Given the description of an element on the screen output the (x, y) to click on. 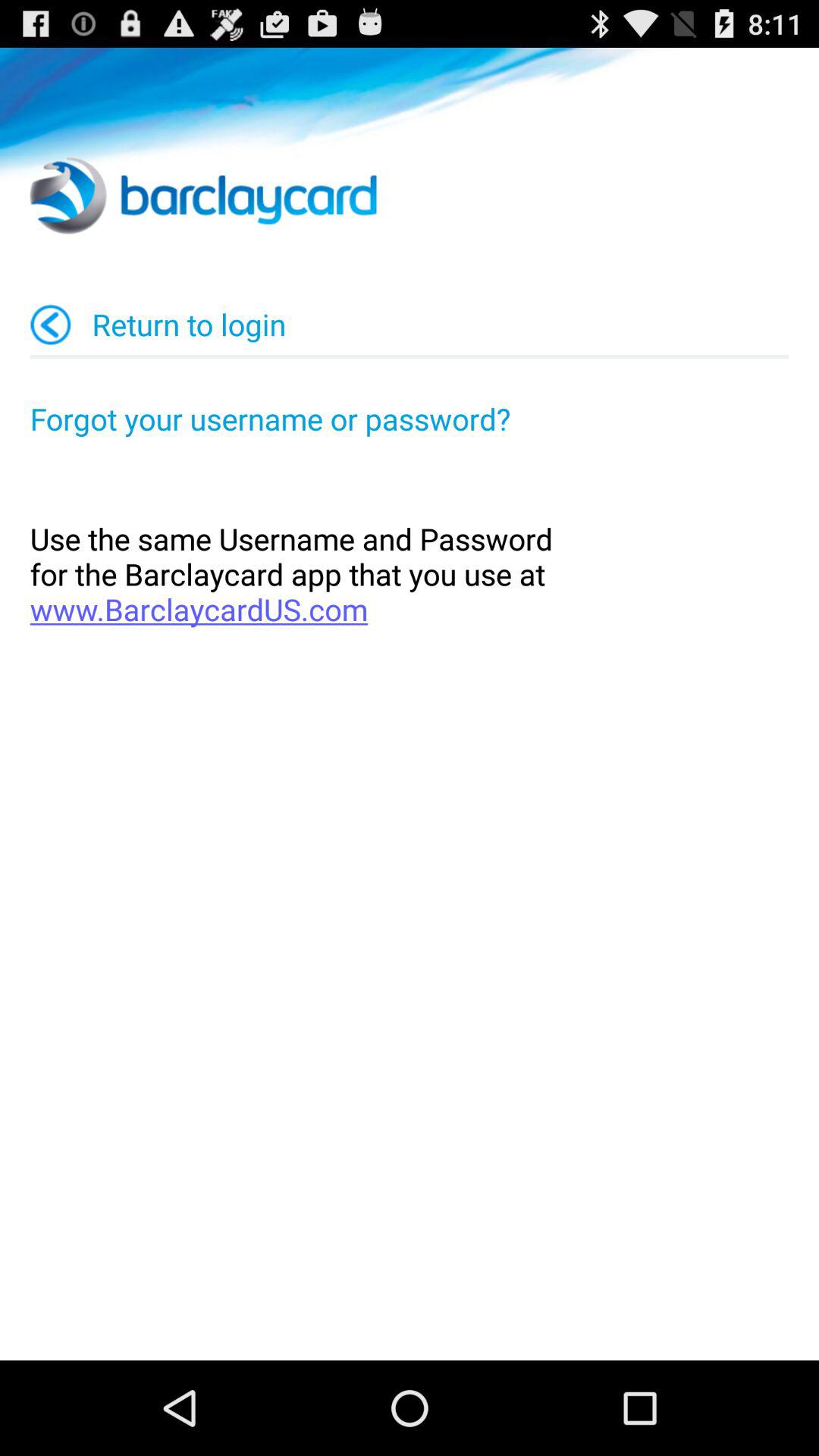
click the use the same (409, 573)
